Given the description of an element on the screen output the (x, y) to click on. 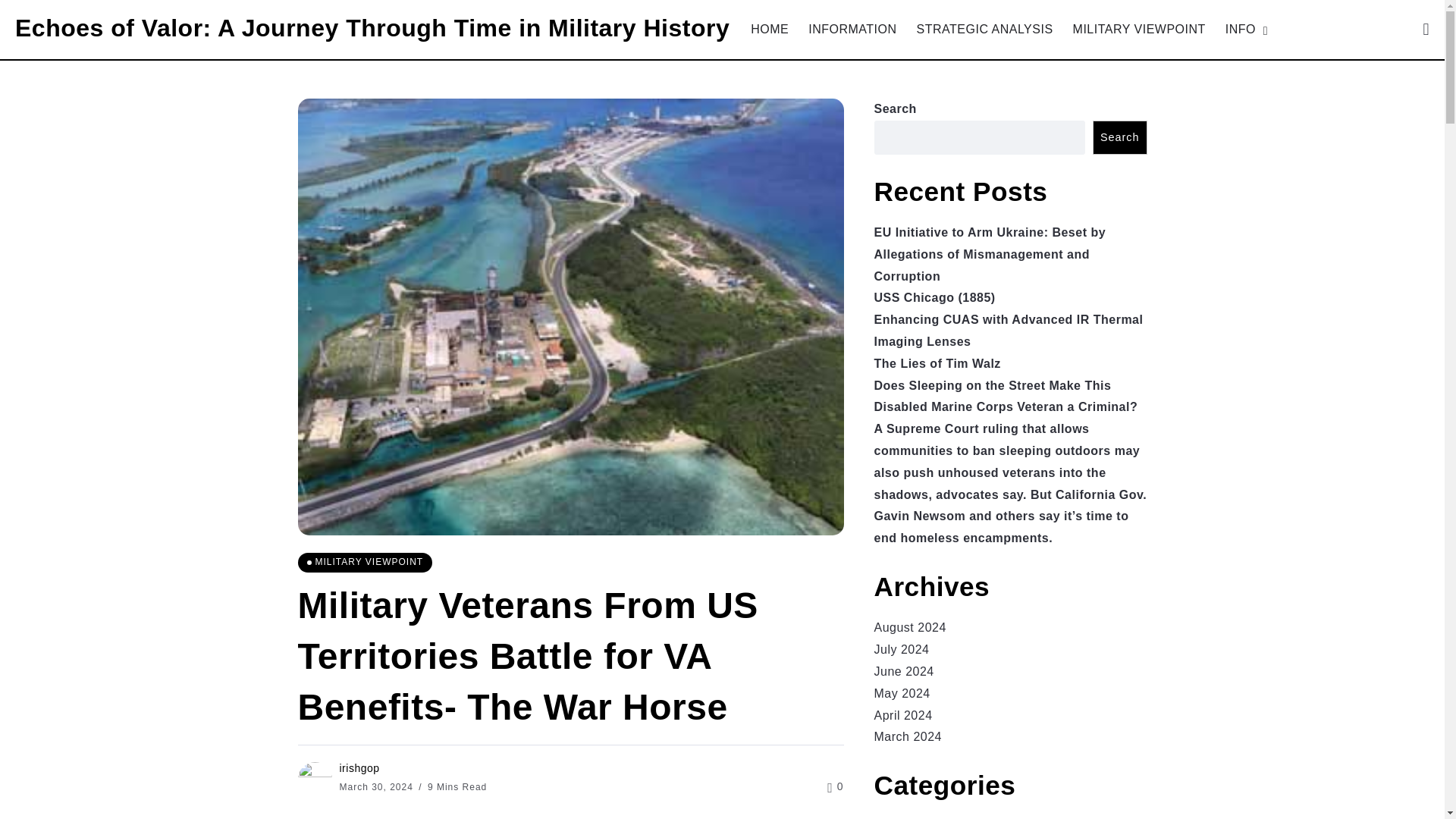
Echoes of Valor: A Journey Through Time in Military History (371, 27)
0 (835, 786)
Search (1120, 137)
INFORMATION (852, 29)
August 2024 (908, 626)
STRATEGIC ANALYSIS (985, 29)
irishgop (359, 767)
May 2024 (901, 693)
June 2024 (903, 671)
The Lies of Tim Walz (936, 363)
